Given the description of an element on the screen output the (x, y) to click on. 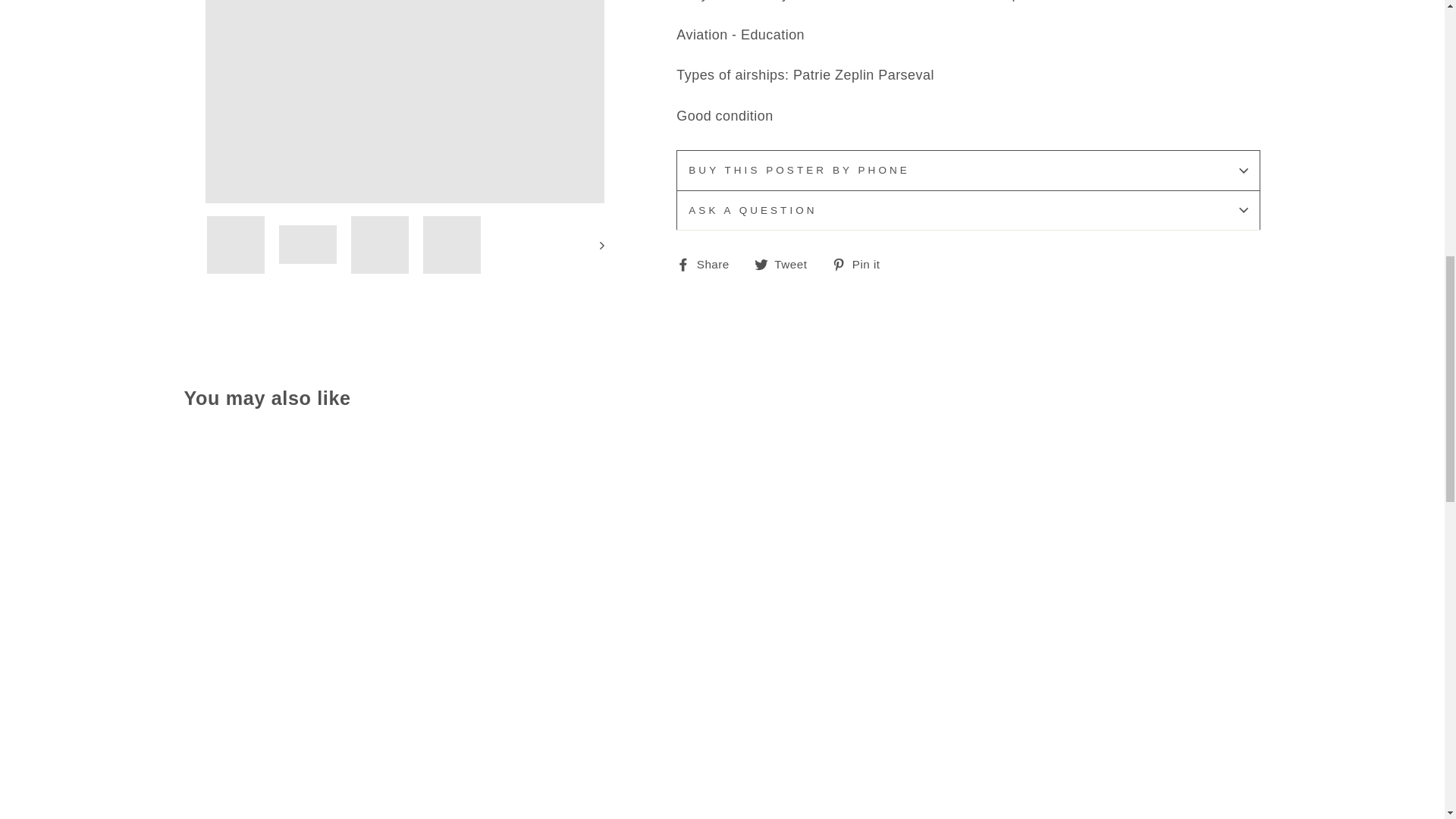
Tweet on Twitter (786, 264)
Share on Facebook (709, 264)
Pin on Pinterest (861, 264)
